Given the description of an element on the screen output the (x, y) to click on. 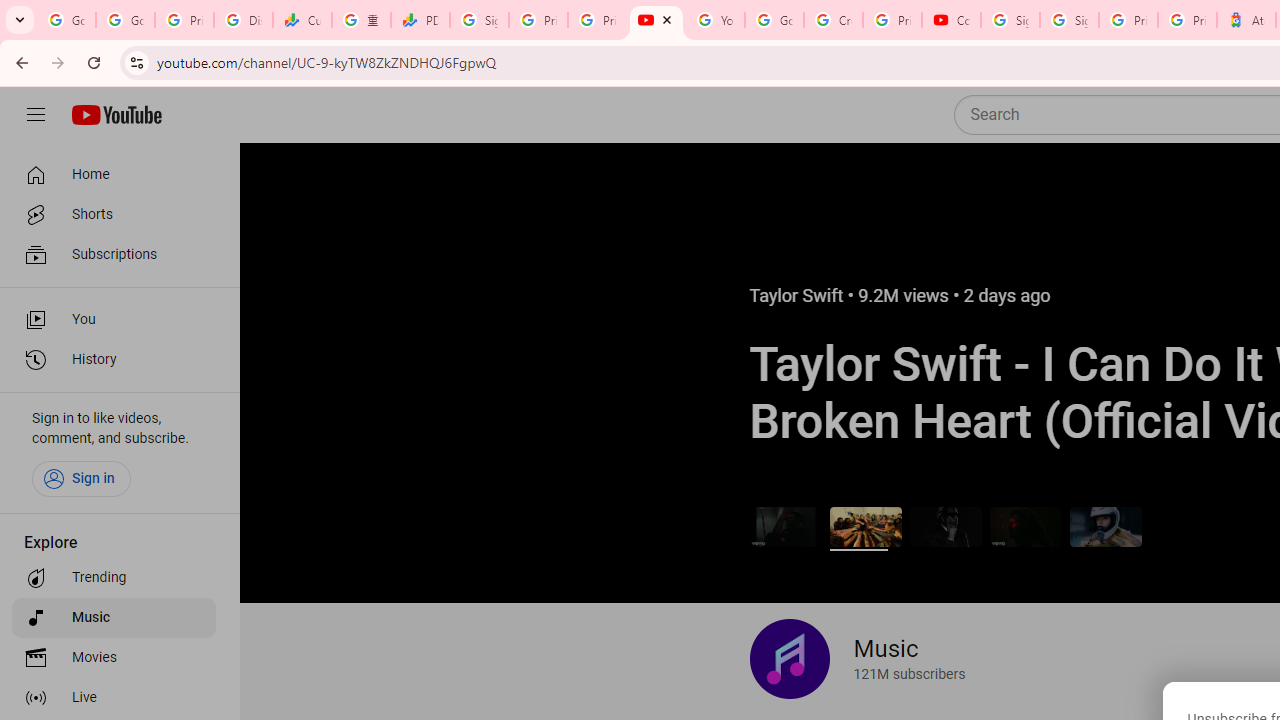
Currencies - Google Finance (301, 20)
Sign in - Google Accounts (1069, 20)
Guide (35, 115)
Shorts (113, 214)
Movies (113, 657)
